Given the description of an element on the screen output the (x, y) to click on. 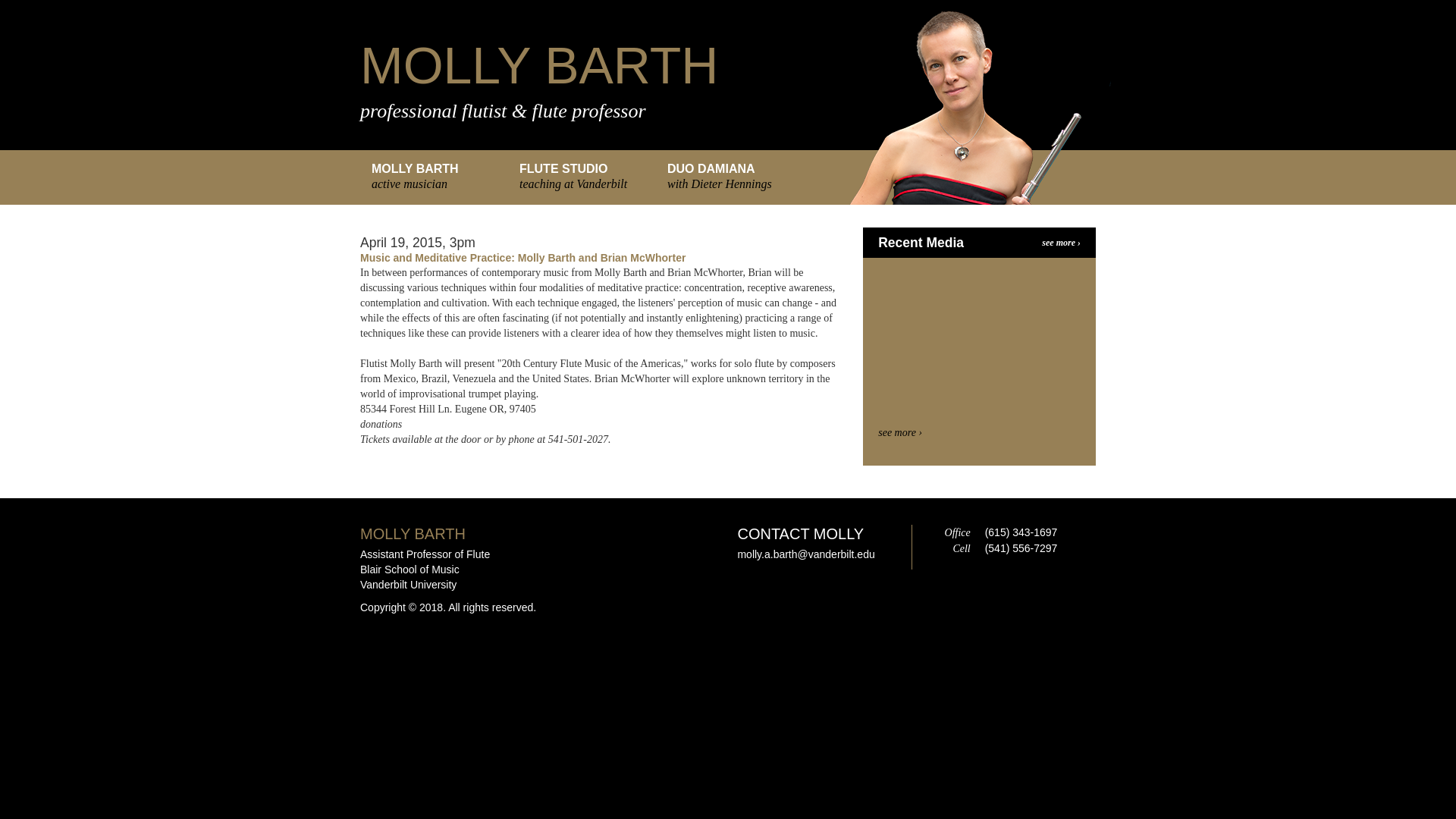
Email Molly Barth (805, 553)
see more (899, 432)
see more (1061, 242)
